Given the description of an element on the screen output the (x, y) to click on. 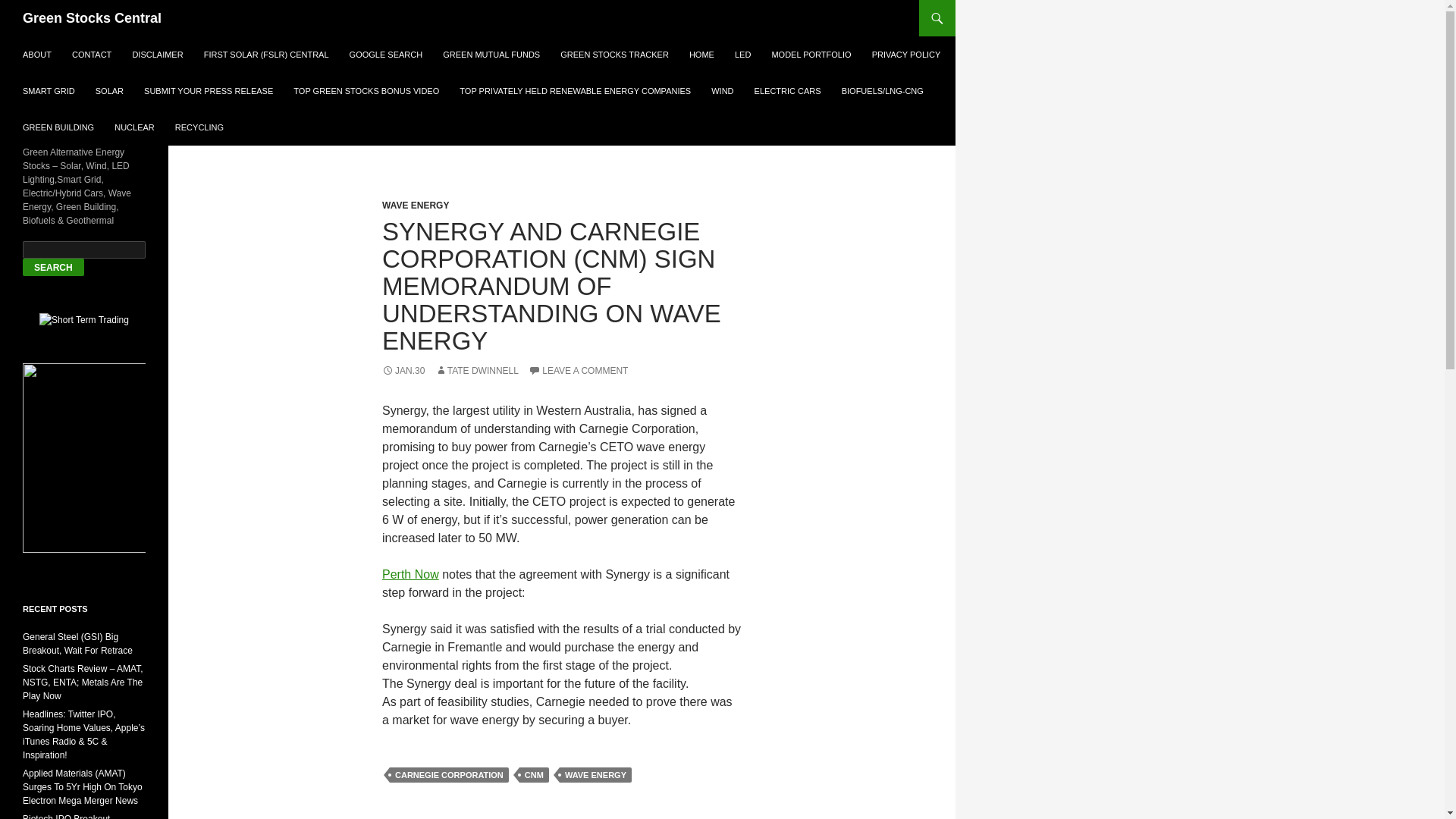
WIND (721, 90)
WAVE ENERGY (595, 774)
NUCLEAR (133, 126)
LEAVE A COMMENT (577, 370)
ELECTRIC CARS (787, 90)
TOP GREEN STOCKS BONUS VIDEO (365, 90)
Green Stocks Central (92, 18)
SOLAR (108, 90)
Search (53, 267)
ABOUT (37, 54)
SUBMIT YOUR PRESS RELEASE (208, 90)
LED (742, 54)
RECYCLING (198, 126)
CNM (533, 774)
CONTACT (91, 54)
